Given the description of an element on the screen output the (x, y) to click on. 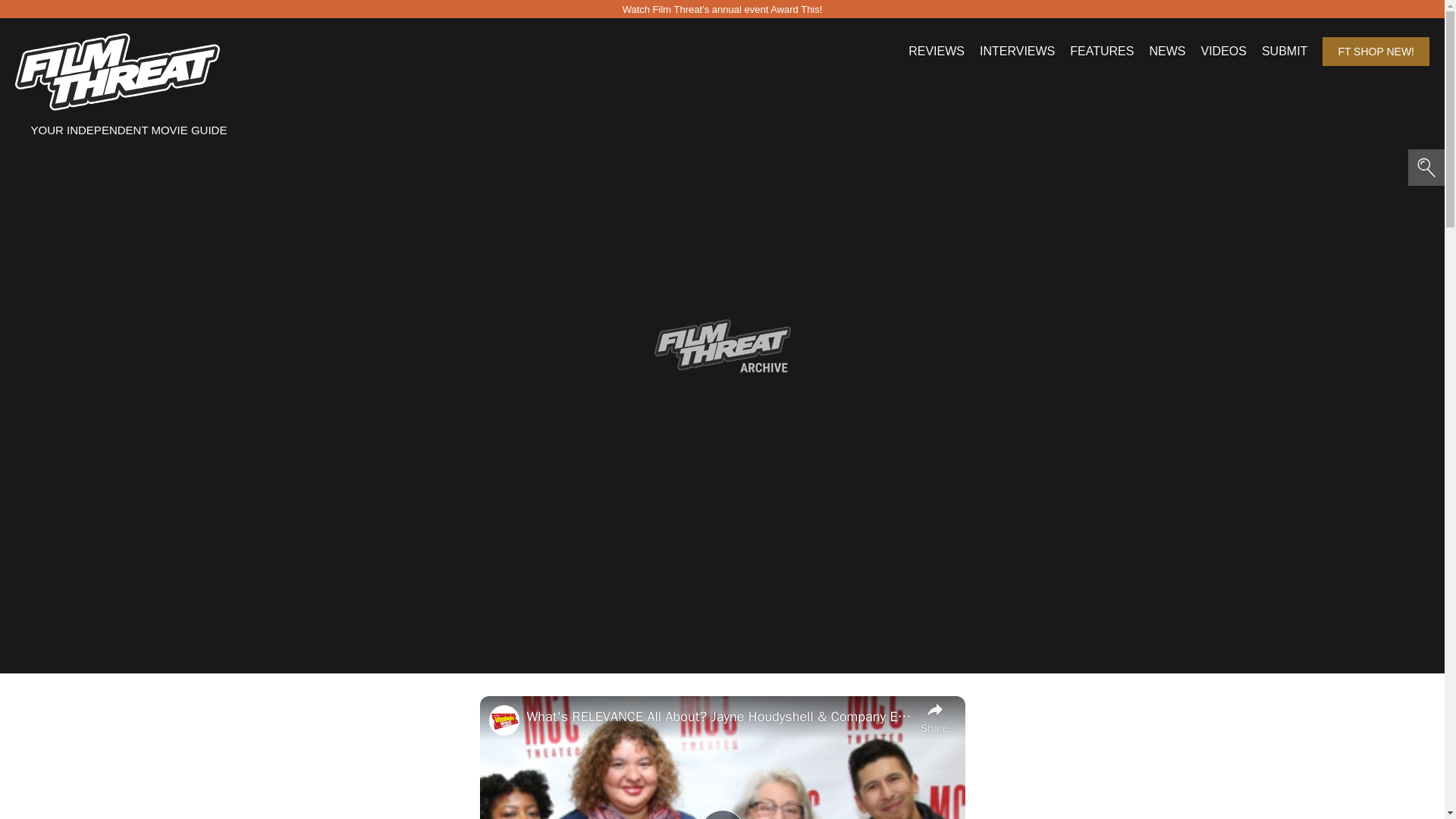
REVIEWS (935, 51)
Search (152, 24)
INTERVIEWS (1016, 51)
Play Video (721, 814)
FT SHOP NEW! (1375, 51)
VIDEOS (1222, 51)
Play Video (721, 814)
NEWS (1166, 51)
SUBMIT (1284, 51)
FEATURES (1102, 51)
